Given the description of an element on the screen output the (x, y) to click on. 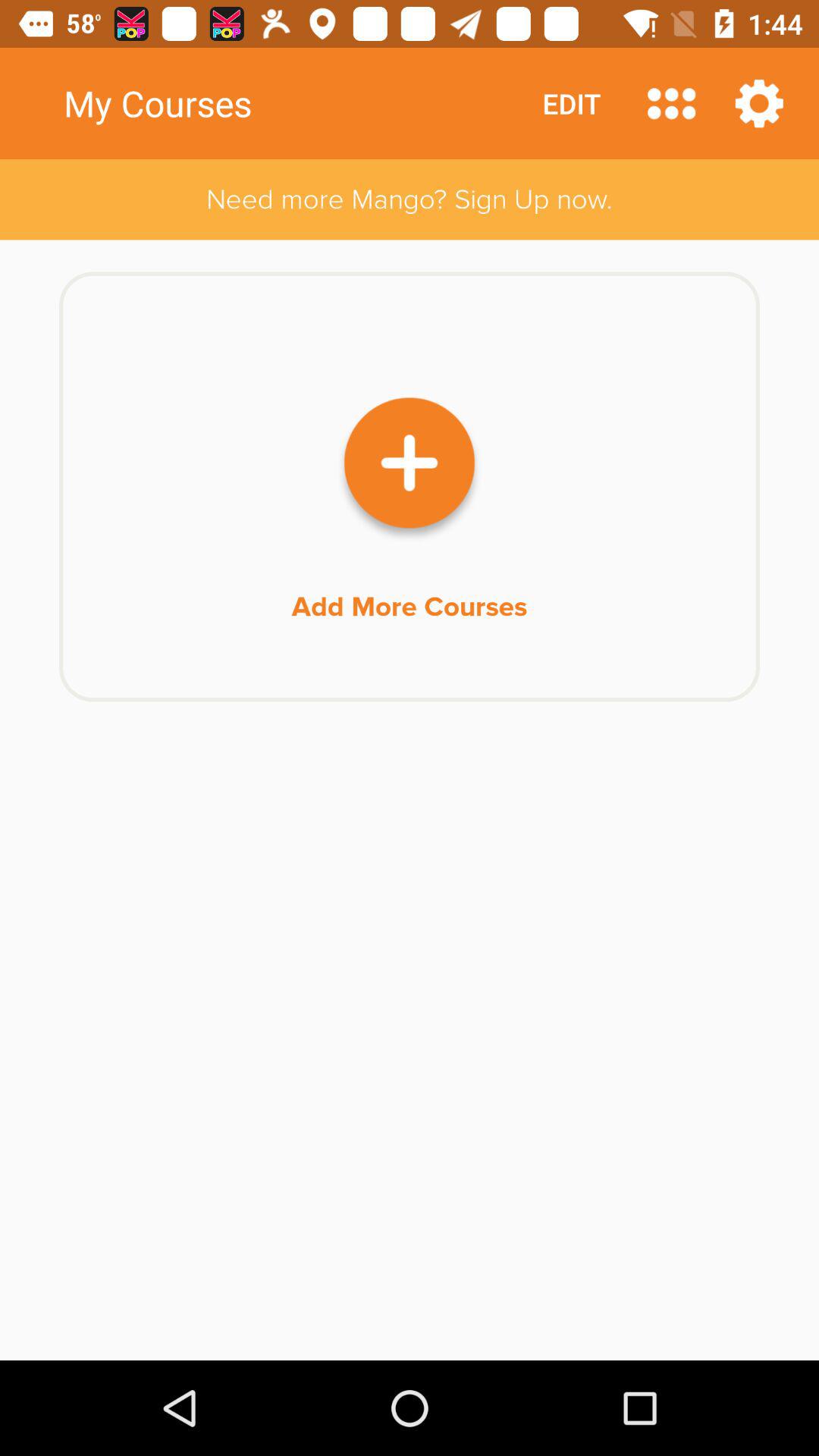
settings button (759, 103)
